Given the description of an element on the screen output the (x, y) to click on. 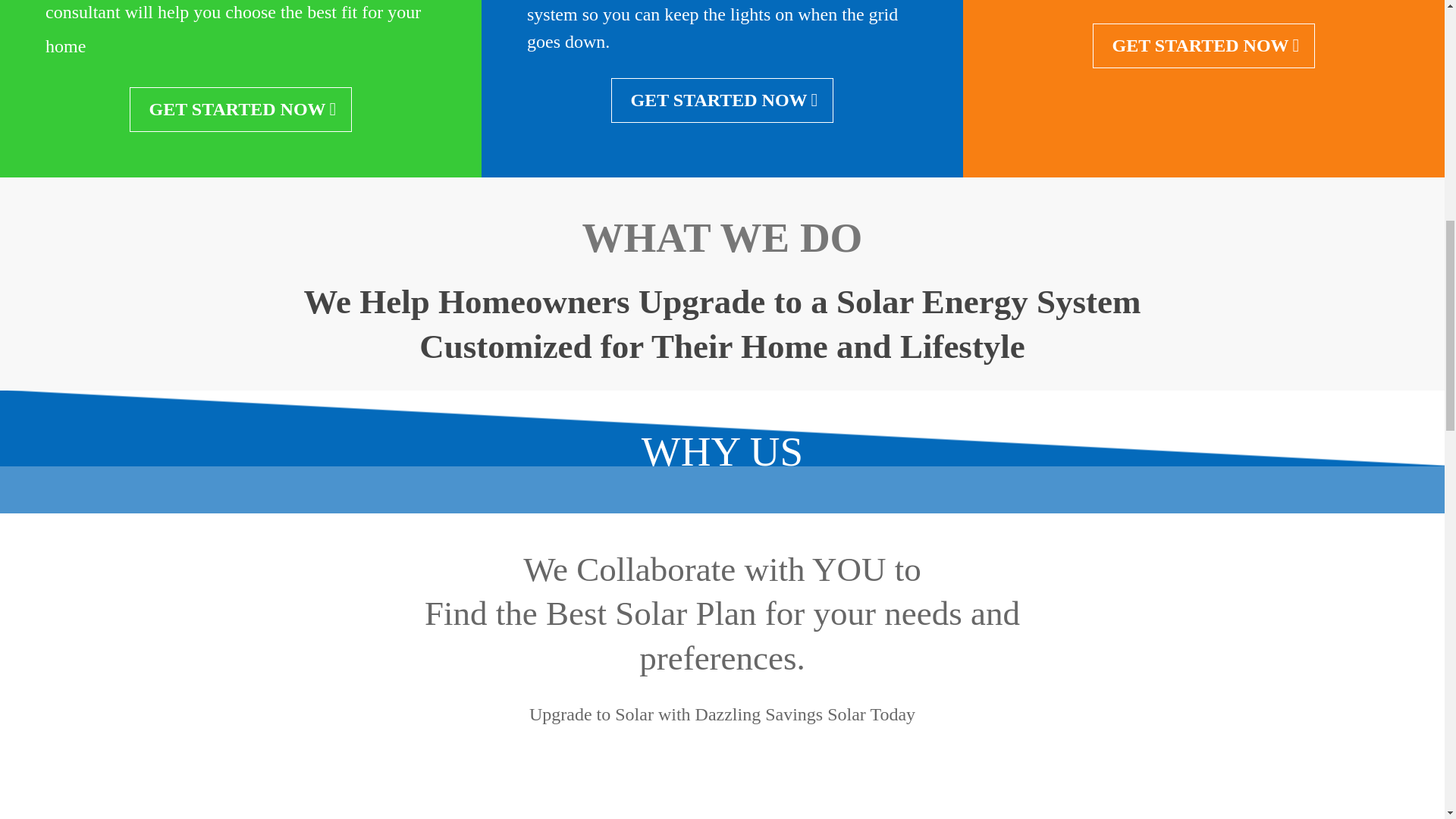
GET STARTED NOW (1204, 45)
GET STARTED NOW (240, 108)
GET STARTED NOW (722, 99)
